Given the description of an element on the screen output the (x, y) to click on. 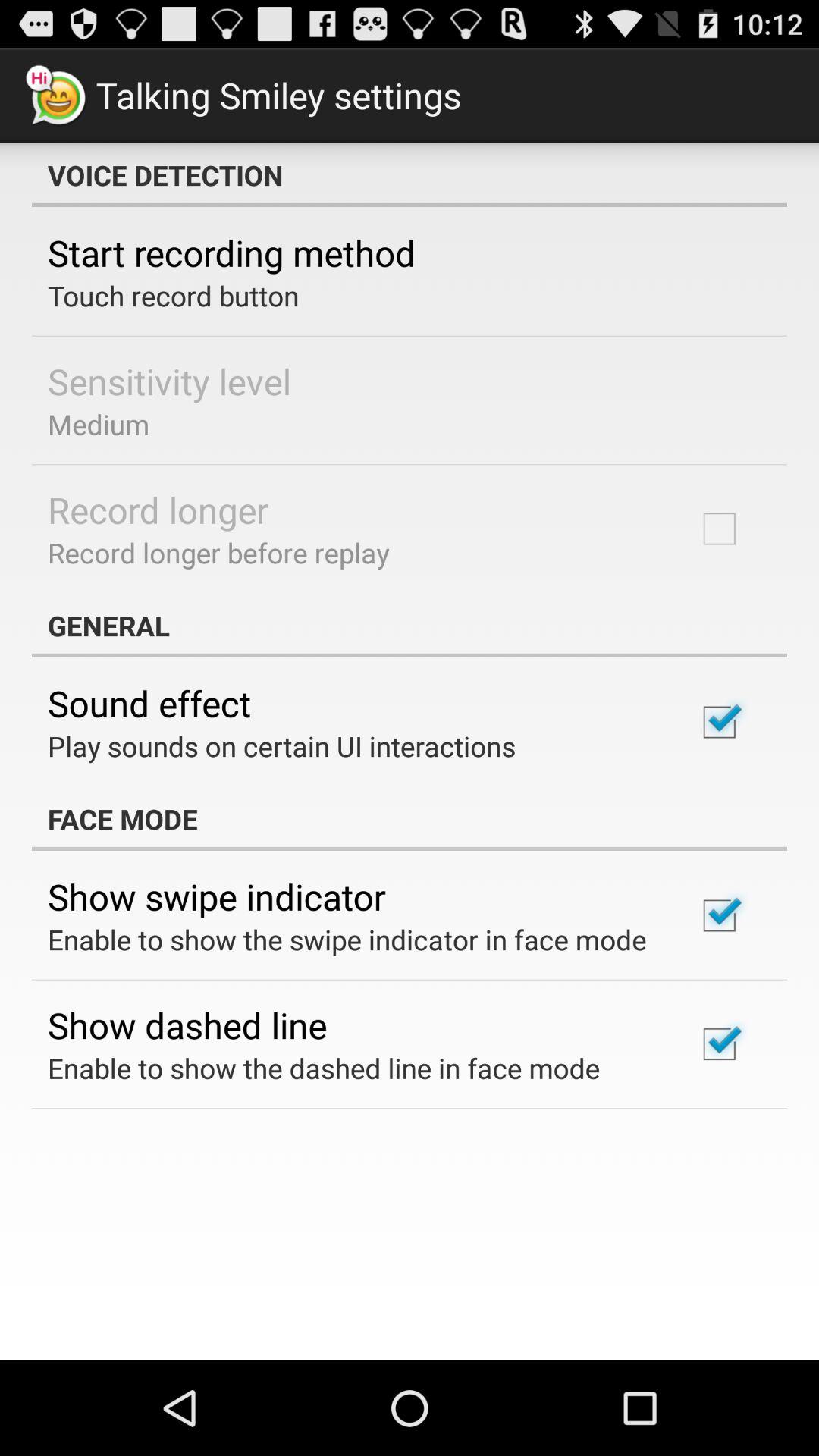
open the item below general icon (149, 703)
